Given the description of an element on the screen output the (x, y) to click on. 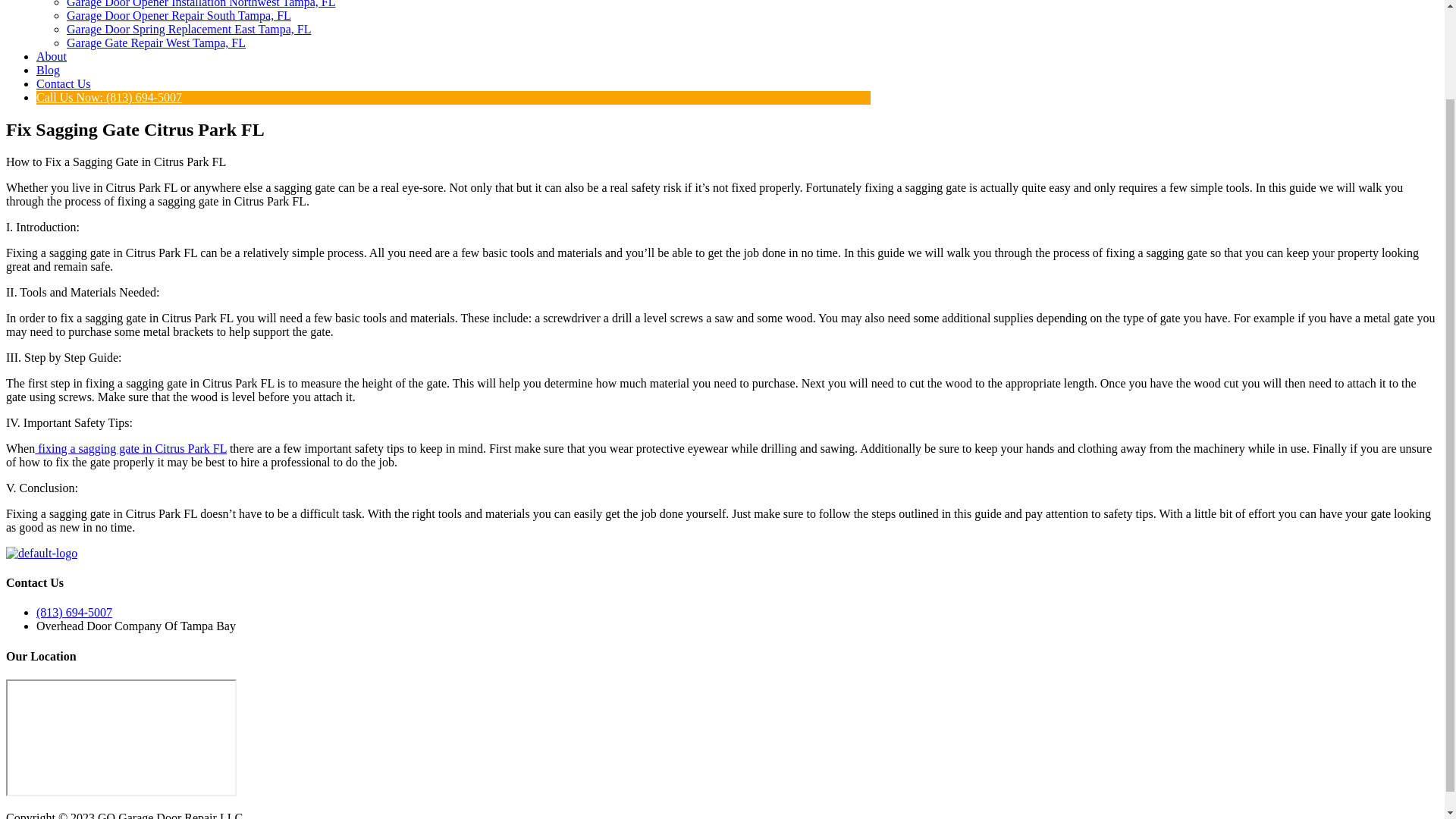
Garage Door Opener Installation Northwest Tampa, FL (200, 4)
Garage Door Opener Repair South Tampa, FL (178, 15)
fixing a sagging gate in Citrus Park FL (130, 448)
Garage Door Spring Replacement East Tampa, FL (188, 29)
Blog (47, 69)
Garage Gate Repair West Tampa, FL (156, 42)
Contact Us (63, 83)
Overhead Door Company Of Tampa Bay (120, 737)
About (51, 56)
